Given the description of an element on the screen output the (x, y) to click on. 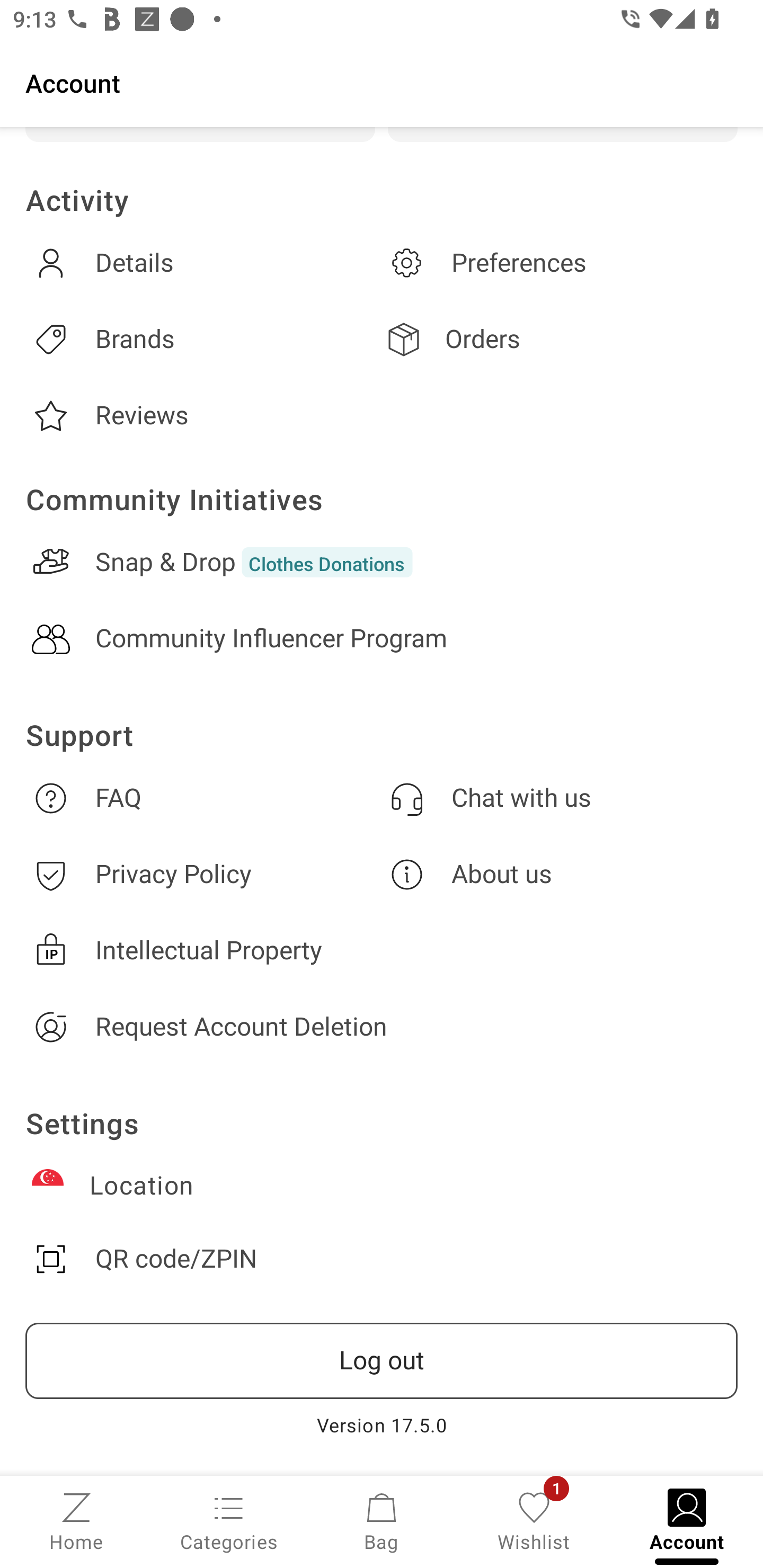
Account (381, 82)
Details (203, 263)
Preferences (559, 263)
Brands (203, 339)
Orders (559, 339)
Reviews (203, 415)
Snap & DropClothes Donations (381, 561)
Community Influencer Program (381, 638)
FAQ (203, 797)
Chat with us (559, 797)
Privacy Policy (203, 873)
About us (559, 873)
Intellectual Property (381, 950)
Request Account Deletion (381, 1026)
QR code/ZPIN (381, 1258)
Log out (381, 1360)
Home (76, 1519)
Categories (228, 1519)
Bag (381, 1519)
Wishlist, 1 new notification Wishlist (533, 1519)
